Given the description of an element on the screen output the (x, y) to click on. 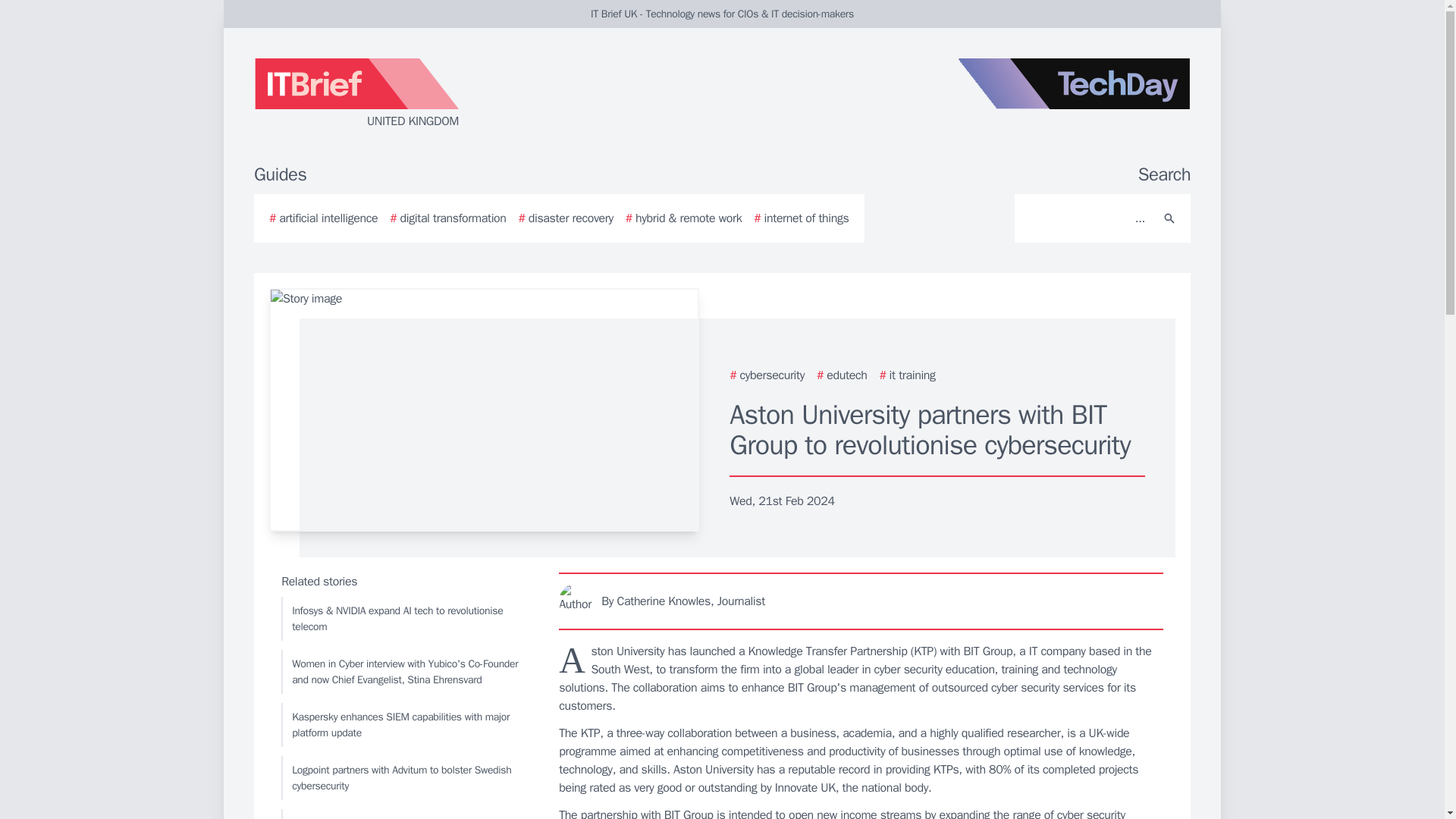
UNITED KINGDOM (435, 94)
By Catherine Knowles, Journalist (861, 601)
